Given the description of an element on the screen output the (x, y) to click on. 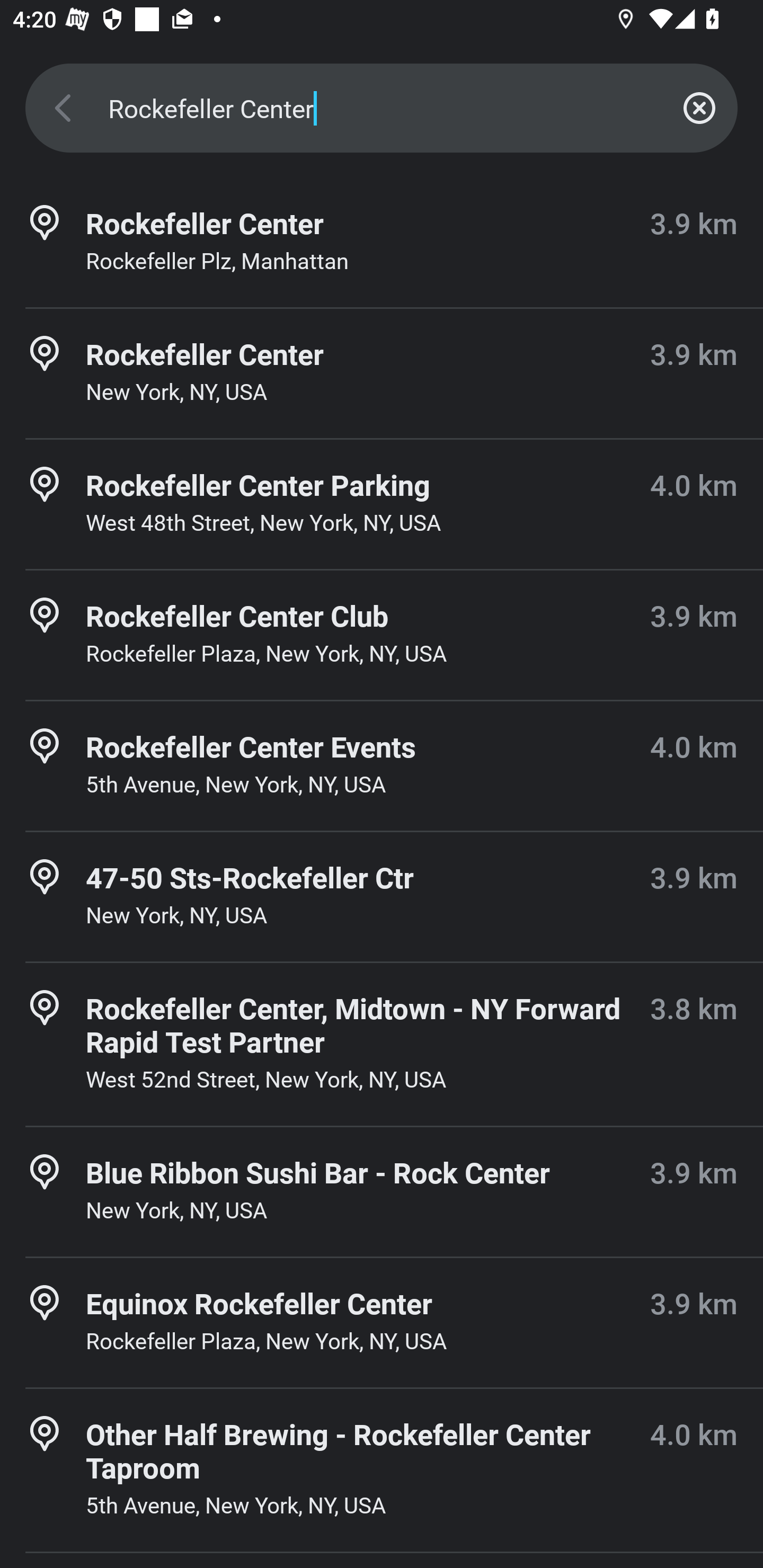
Rockefeller Center SEARCH_SCREEN_SEARCH_FIELD (381, 108)
Rockefeller Center 3.9 km New York, NY, USA (381, 372)
47-50 Sts-Rockefeller Ctr 3.9 km New York, NY, USA (381, 896)
